Given the description of an element on the screen output the (x, y) to click on. 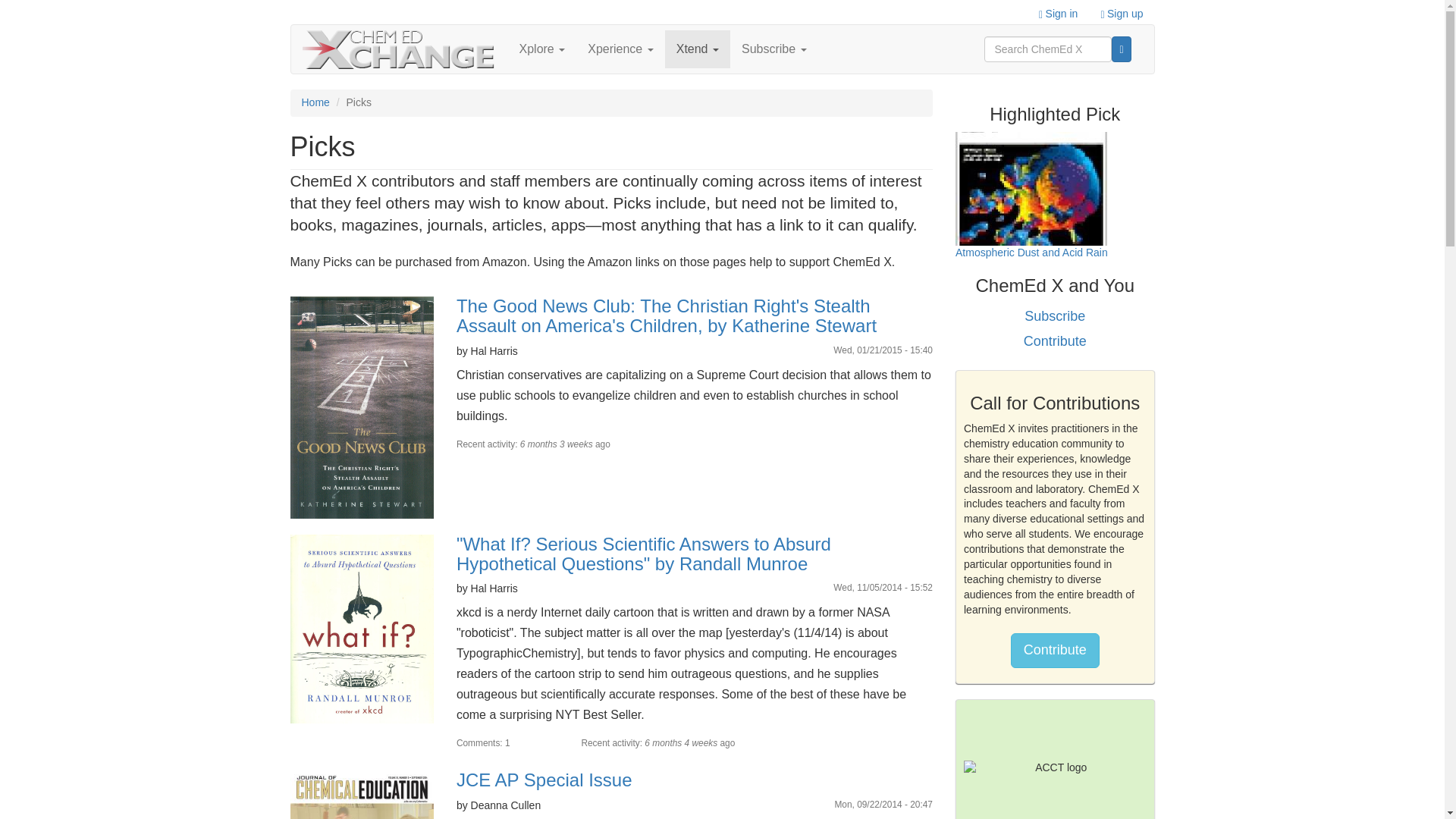
Create a new ChemEd X account (1121, 12)
JCE AP Special Issue (544, 779)
Subscribe to ChemEd X to access premium resources (774, 48)
Home (315, 102)
JCE AP Special Issue (360, 794)
Sign in (1058, 12)
Home (403, 49)
Xtend (697, 48)
Subscribe (774, 48)
